Given the description of an element on the screen output the (x, y) to click on. 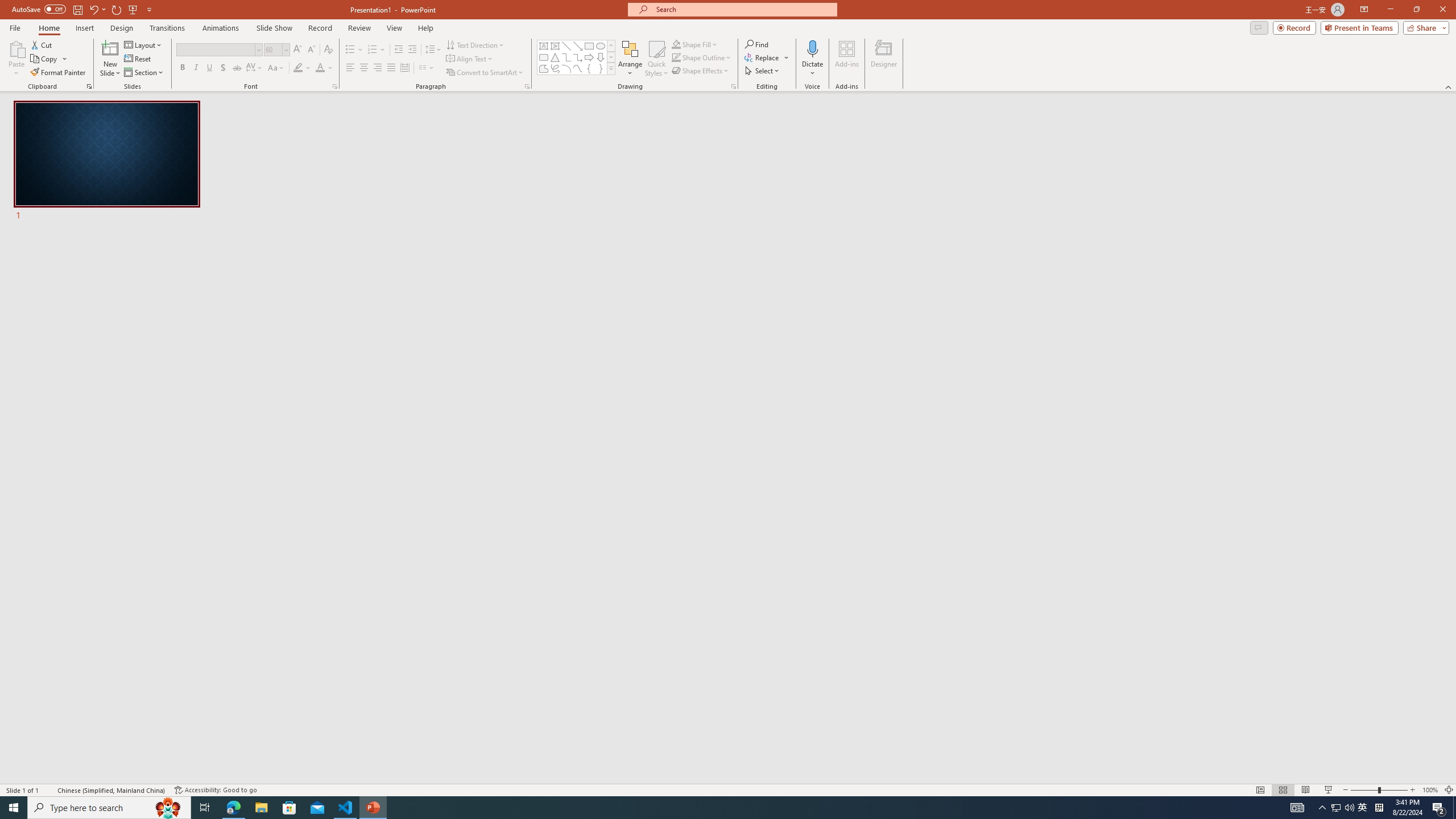
Slide Show (273, 28)
Underline (209, 67)
Freeform: Scribble (554, 68)
Normal (1260, 790)
Present in Teams (1359, 27)
Decrease Font Size (310, 49)
Line Arrow (577, 45)
Center (363, 67)
Arc (566, 68)
Connector: Elbow Arrow (577, 57)
New Slide (110, 48)
Shape Effects (700, 69)
Spell Check  (49, 790)
Distributed (404, 67)
Insert (83, 28)
